Given the description of an element on the screen output the (x, y) to click on. 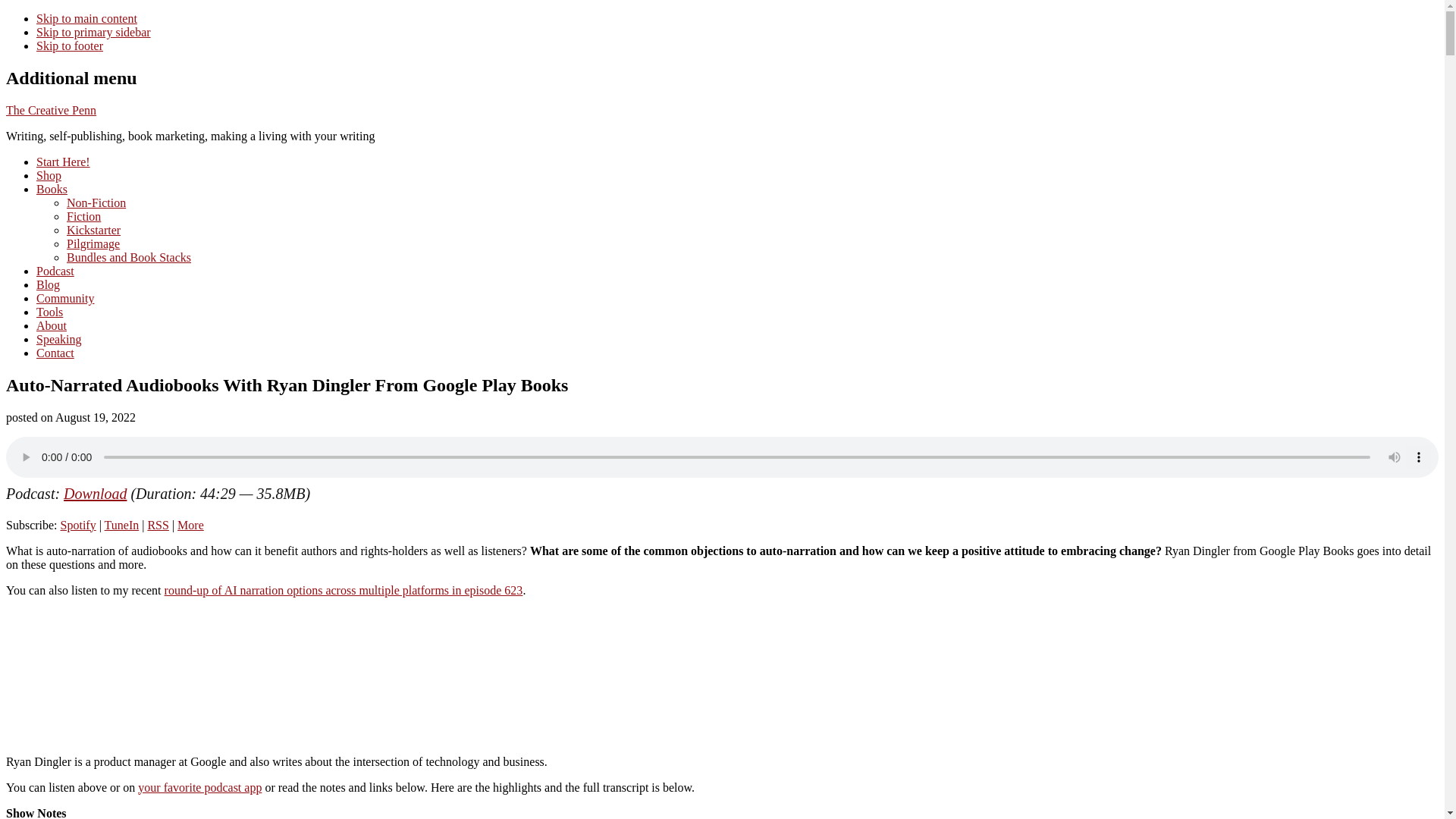
Skip to primary sidebar (93, 31)
Skip to footer (69, 45)
Download (95, 493)
Subscribe via RSS (157, 524)
Tools (49, 311)
TuneIn (121, 524)
Skip to main content (86, 18)
Subscribe on TuneIn (121, 524)
Shop (48, 174)
Podcast (55, 270)
Subscribe on Spotify (78, 524)
Start Here! (63, 161)
The Creative Penn (50, 110)
Download (95, 493)
